Given the description of an element on the screen output the (x, y) to click on. 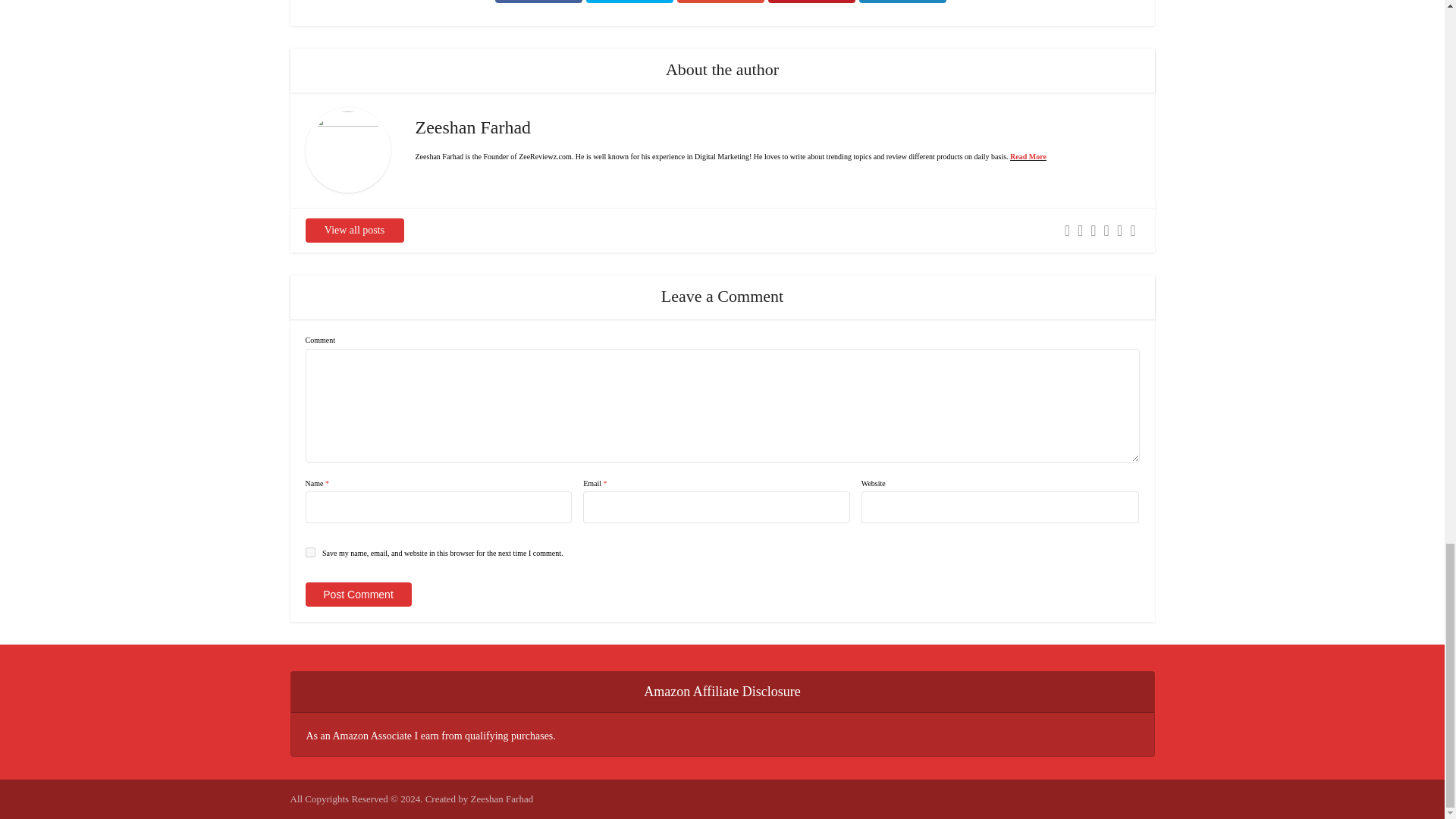
Post Comment (357, 594)
yes (309, 552)
